Given the description of an element on the screen output the (x, y) to click on. 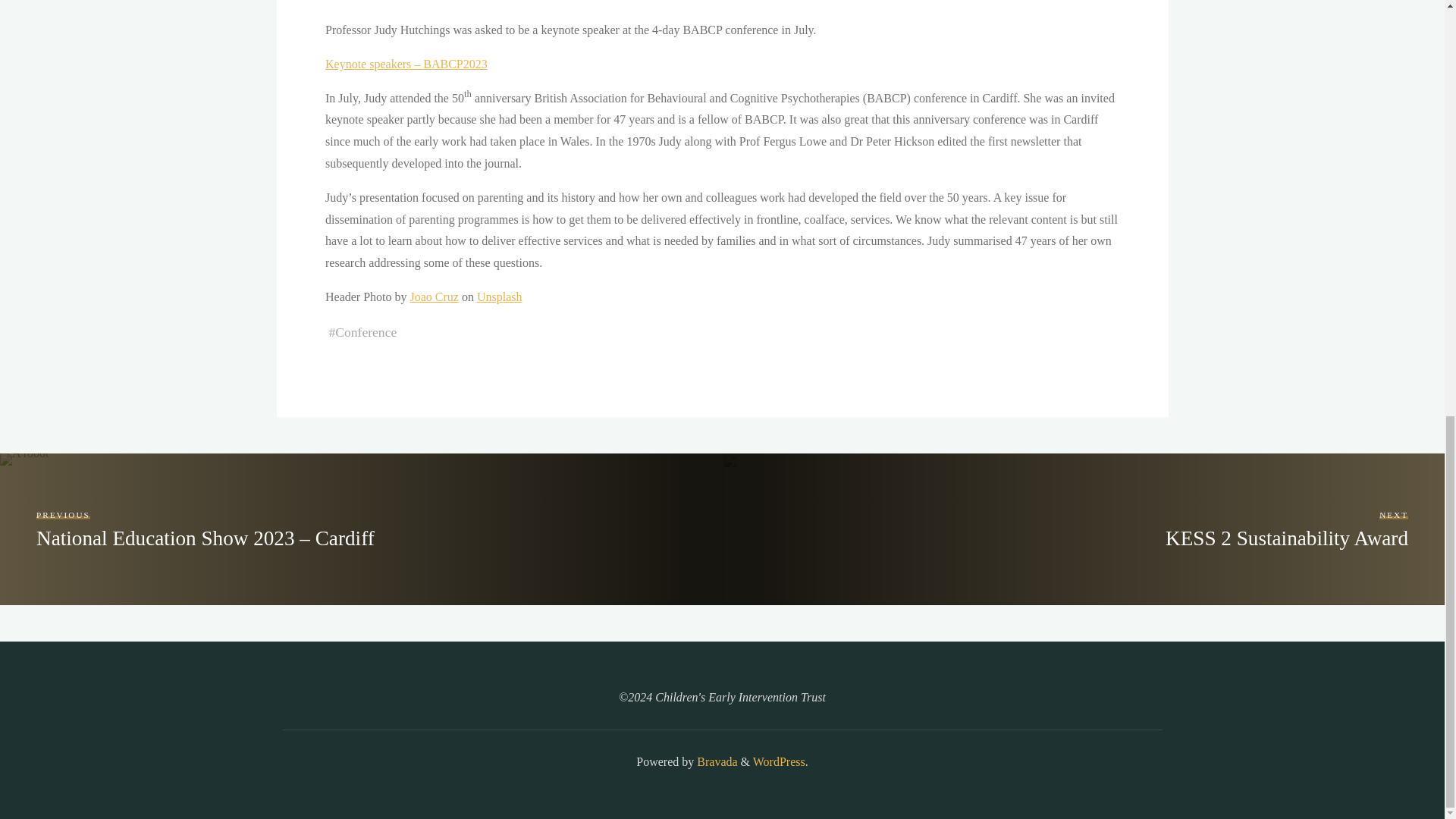
Joao Cruz (433, 296)
Unsplash (498, 296)
Bravada WordPress Theme by Cryout Creations (715, 761)
